Given the description of an element on the screen output the (x, y) to click on. 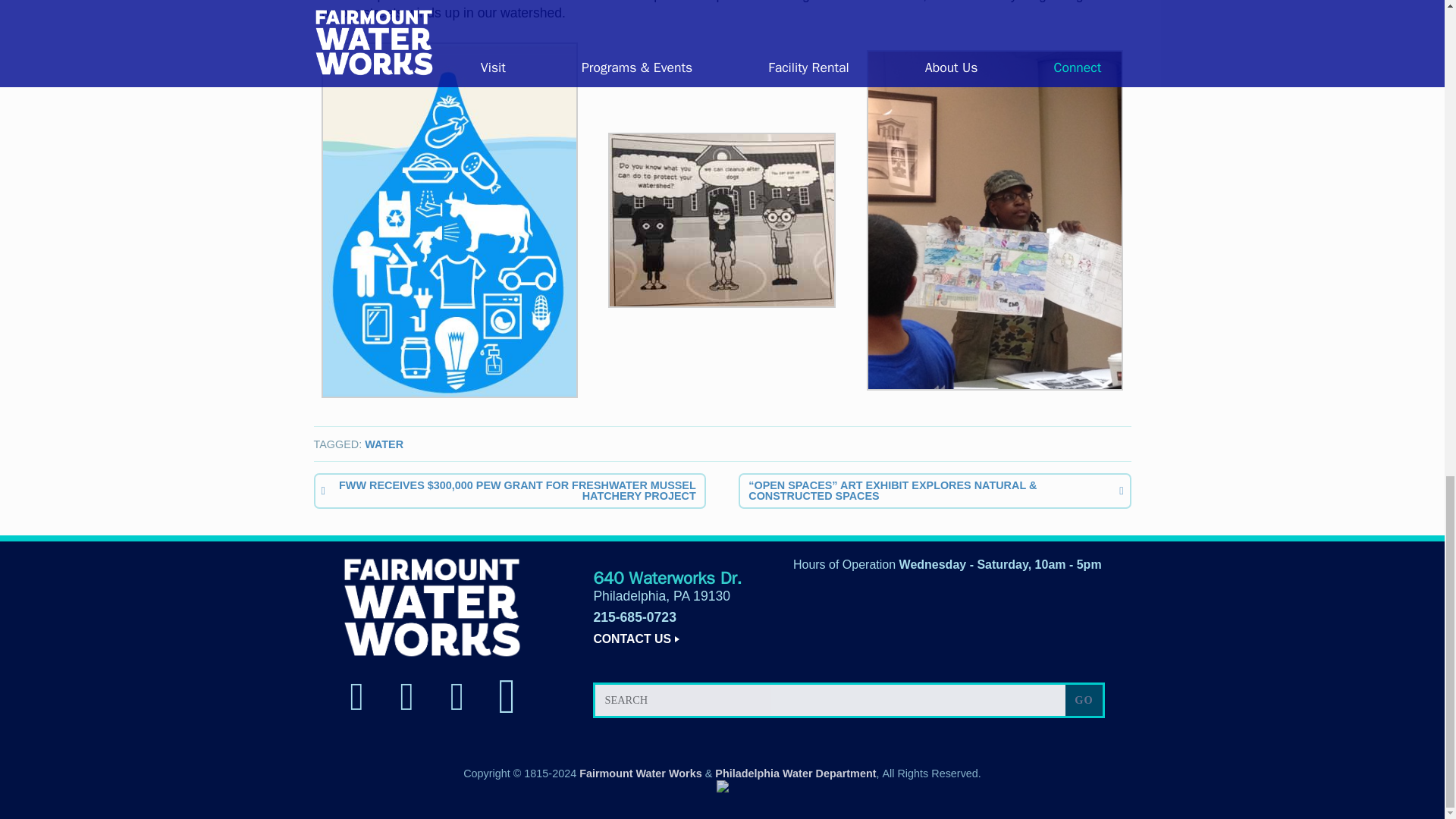
Go (1083, 699)
Fairmount Water Works on Flickr (507, 696)
